Given the description of an element on the screen output the (x, y) to click on. 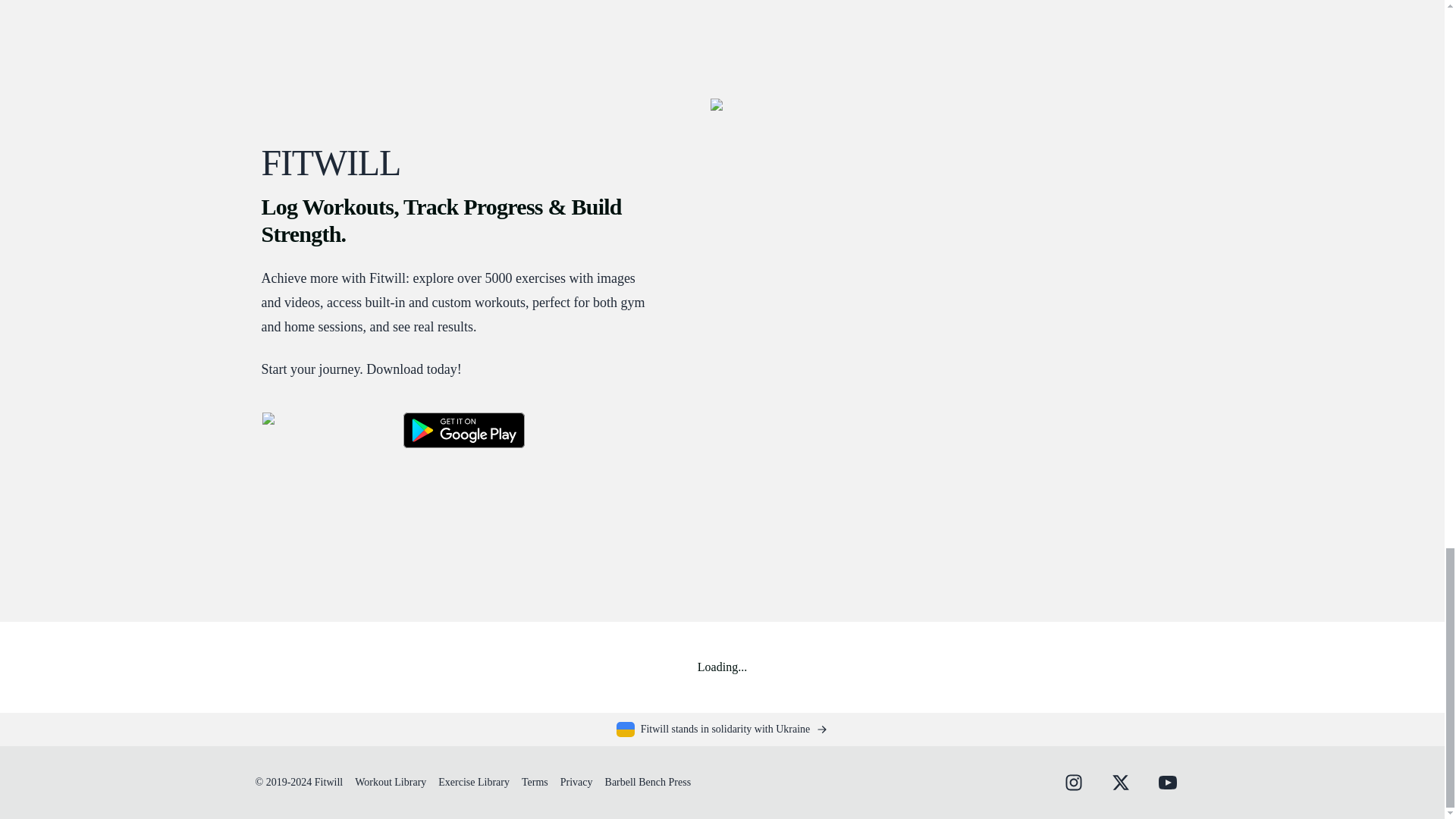
Fitwill: Instagram (1072, 782)
Fitwill stands in solidarity with Ukraine (721, 729)
Get Fitwill on Google Play (462, 429)
Exercise Library (473, 781)
Terms (534, 781)
Fitwill: X (1119, 782)
Barbell Bench Press (648, 781)
Support Ukraine (721, 729)
Fitwill: YouTube (1166, 782)
Workout Library (390, 781)
